Given the description of an element on the screen output the (x, y) to click on. 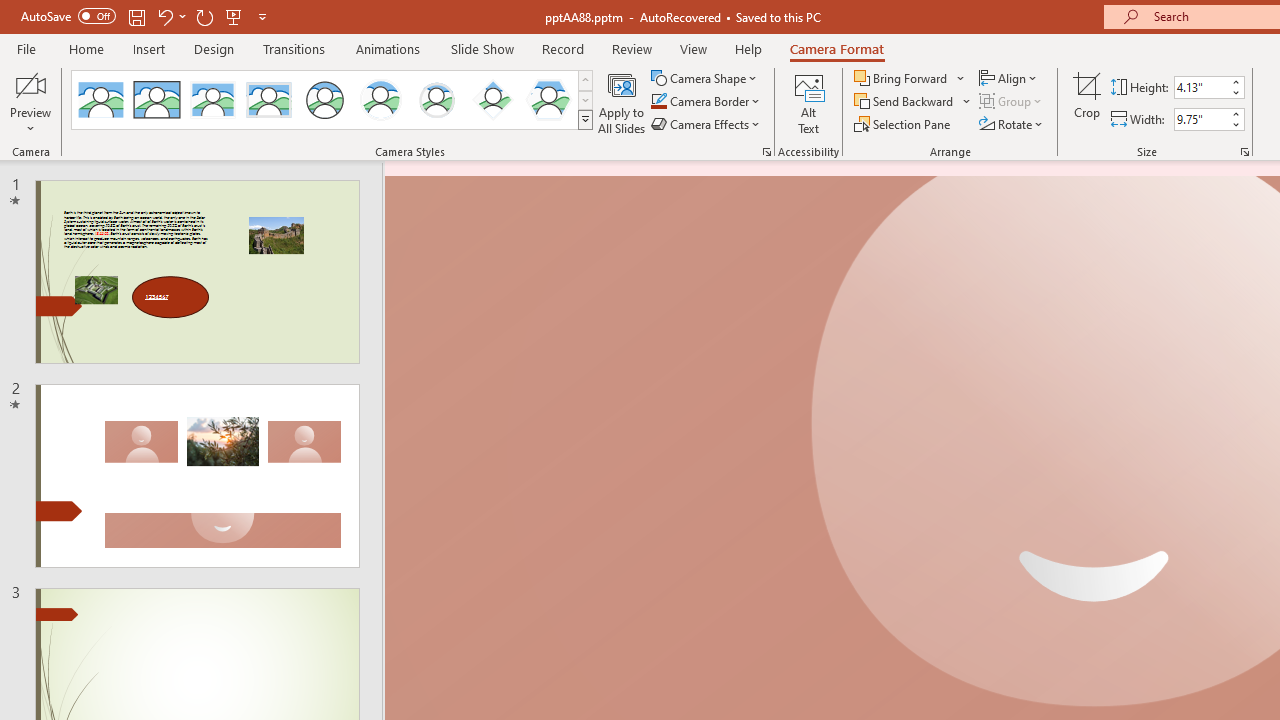
Center Shadow Diamond (492, 100)
Bring Forward (910, 78)
Simple Frame Rectangle (157, 100)
Enable Camera Preview (30, 84)
Rotate (1012, 124)
Cameo Width (1201, 119)
Simple Frame Circle (324, 100)
